Given the description of an element on the screen output the (x, y) to click on. 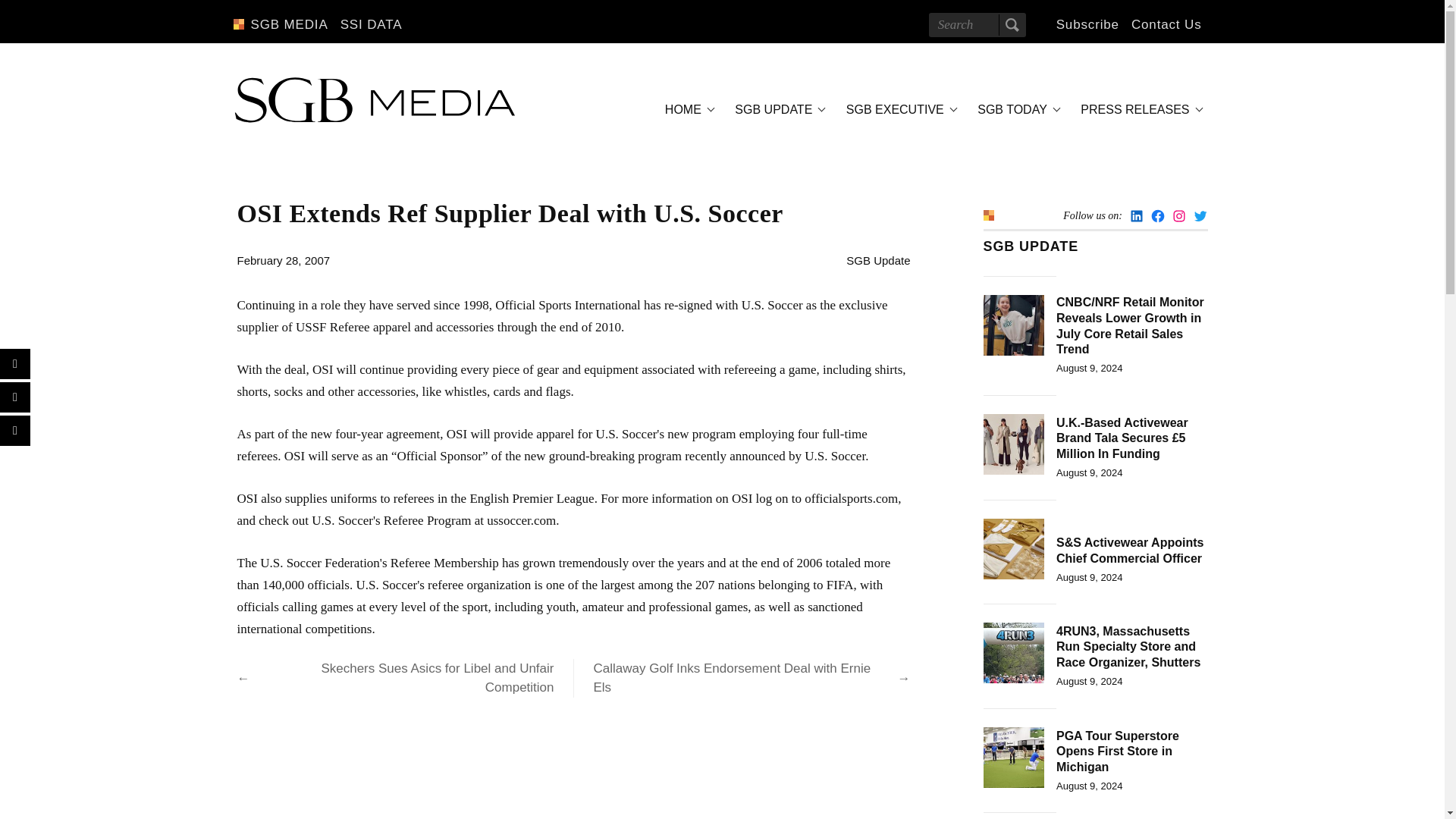
Subscribe (1087, 24)
SGB MEDIA (288, 24)
Contact Us (1166, 24)
Search for: (977, 24)
SGB Update (877, 259)
Callaway Golf Inks Endorsement Deal with Ernie Els (741, 678)
SSI DATA (371, 24)
SGB EXECUTIVE (899, 109)
SGB UPDATE (777, 109)
HOME (687, 109)
